Given the description of an element on the screen output the (x, y) to click on. 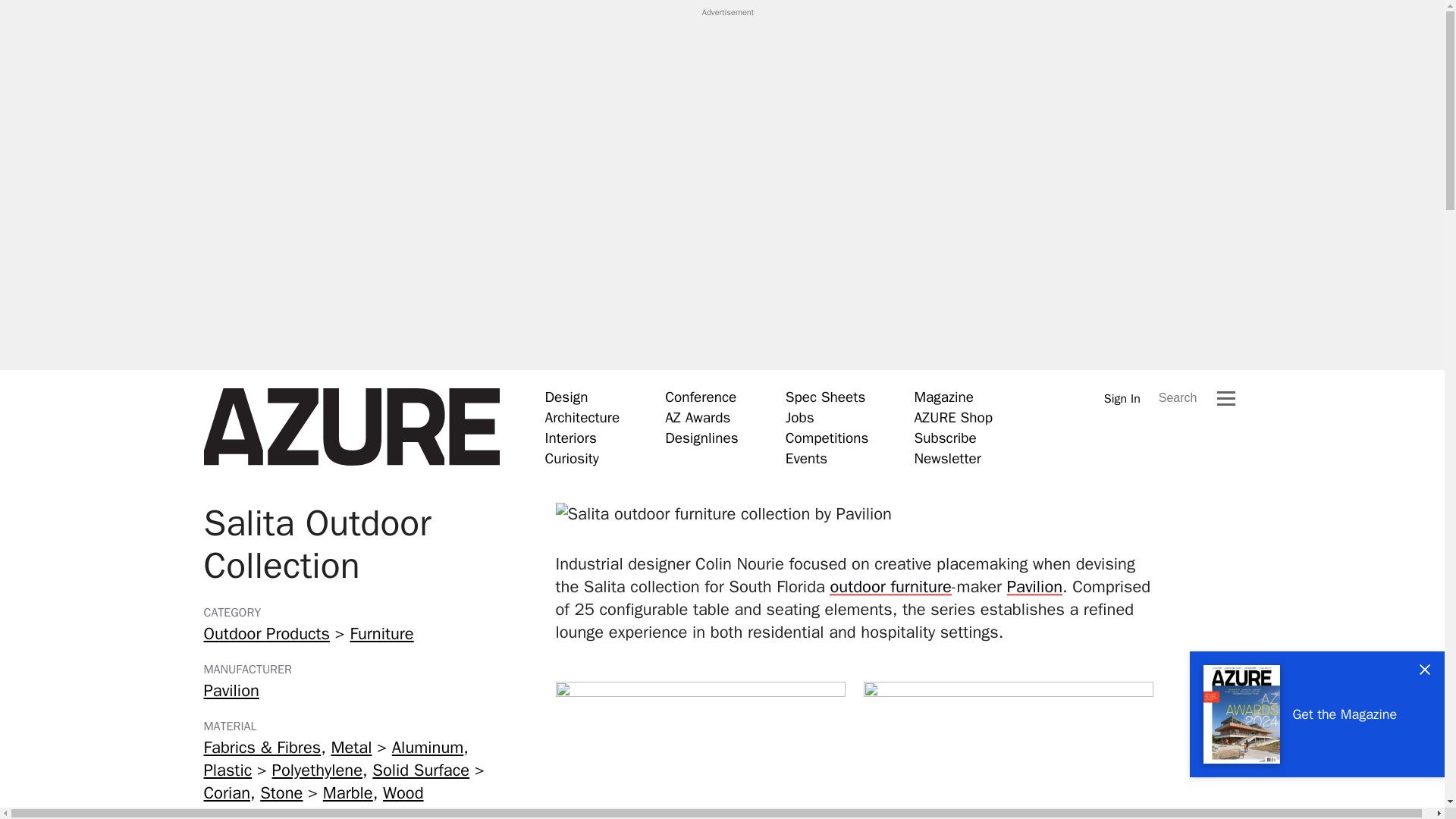
Conference (700, 397)
Subscribe (944, 438)
Search (1178, 397)
Curiosity (571, 458)
Spec Sheets (825, 397)
AZURE Shop (953, 417)
Jobs (799, 417)
Events (806, 458)
Architecture (582, 417)
Interiors (569, 438)
Design (566, 397)
Newsletter (946, 458)
Magazine (944, 397)
Azure Magazine (351, 426)
Competitions (827, 438)
